Given the description of an element on the screen output the (x, y) to click on. 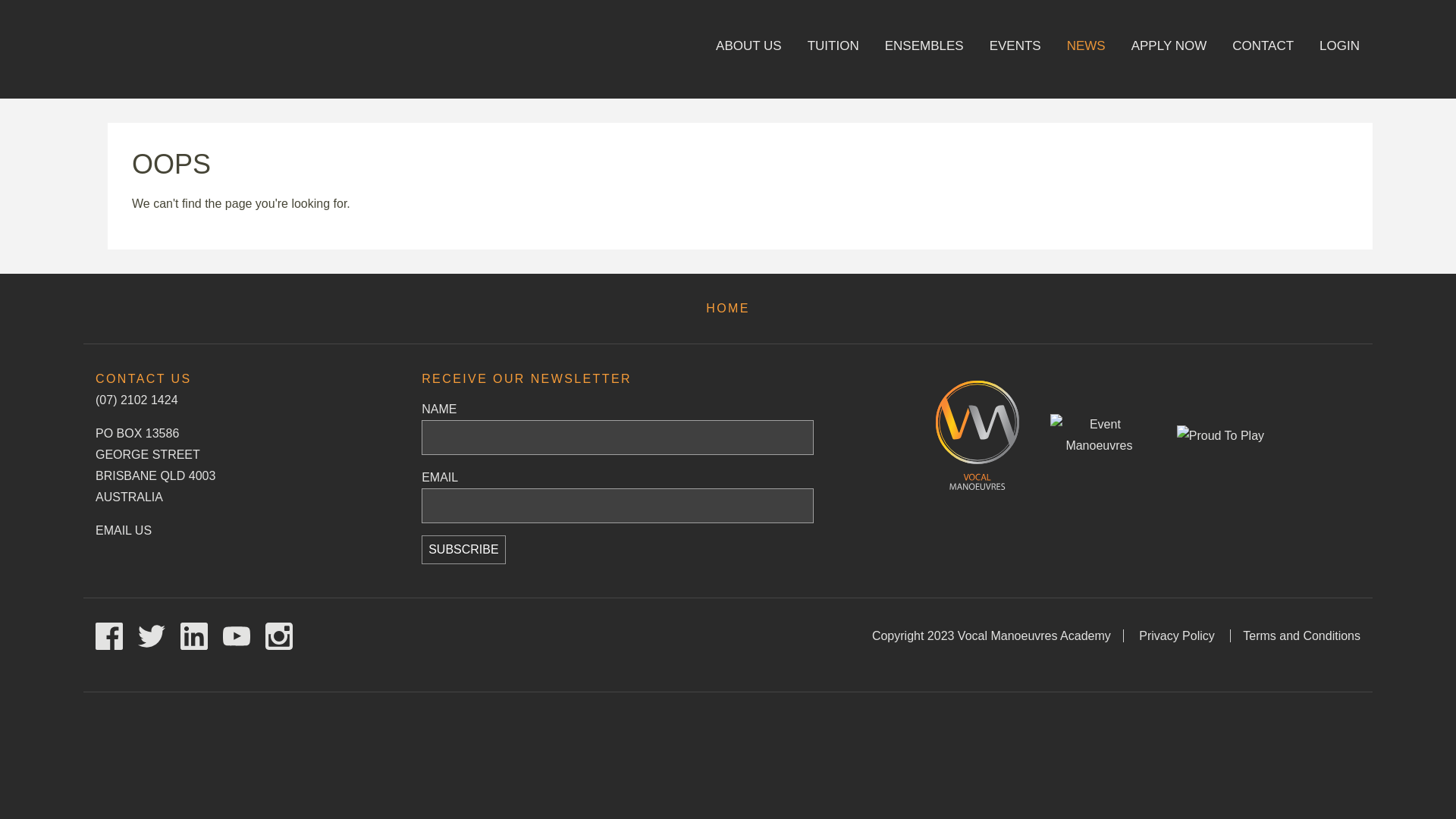
APPLY NOW Element type: text (1169, 52)
HOME Element type: text (727, 307)
ENSEMBLES Element type: text (924, 52)
Terms and Conditions Element type: text (1301, 635)
YouTube Element type: text (237, 638)
LOGIN Element type: text (1339, 52)
Facebook Element type: text (110, 638)
Privacy Policy Element type: text (1176, 635)
EVENTS Element type: text (1015, 52)
CONTACT US Element type: text (143, 378)
Twitter Element type: text (153, 638)
Instagram Element type: text (280, 638)
LinkedIn Element type: text (195, 638)
(07) 2102 1424 Element type: text (136, 399)
SUBSCRIBE Element type: text (463, 549)
Vocal Manoeuvres Academy (en-AU) Element type: text (207, 43)
ABOUT US Element type: text (748, 52)
NEWS Element type: text (1086, 52)
TUITION Element type: text (833, 52)
EMAIL US Element type: text (123, 530)
CONTACT Element type: text (1262, 52)
